Given the description of an element on the screen output the (x, y) to click on. 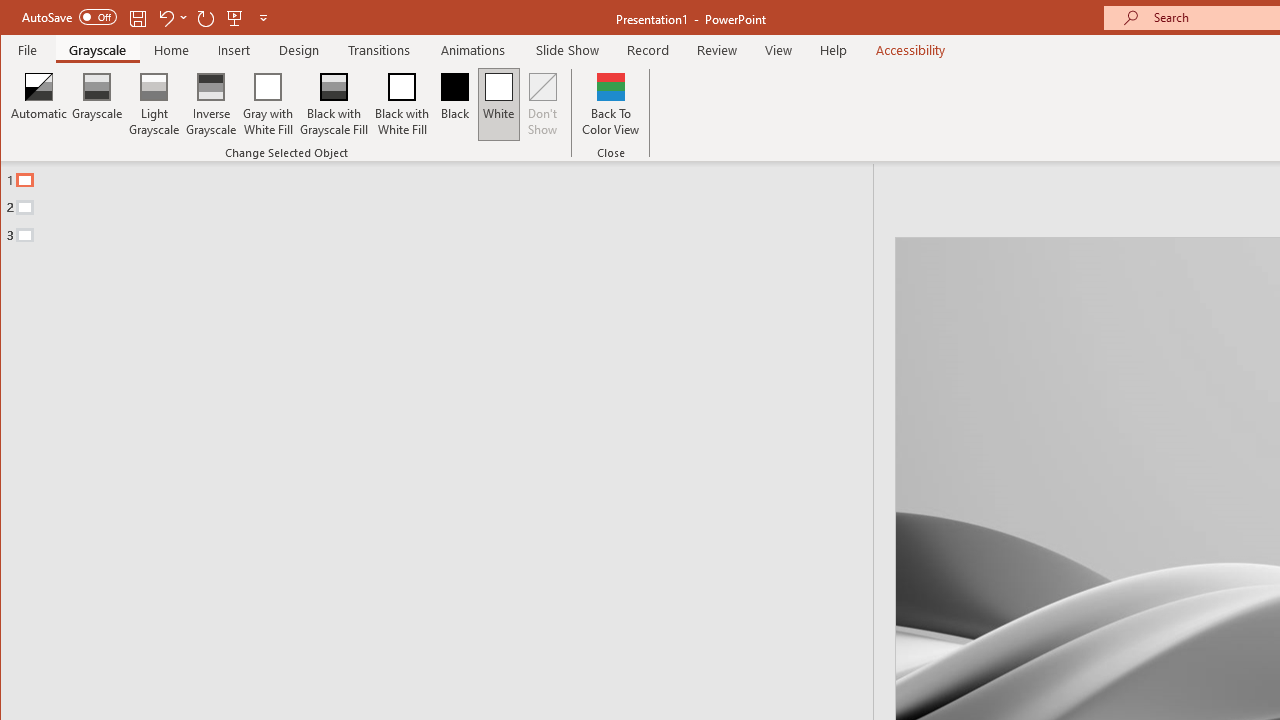
Don't Show (543, 104)
White (498, 104)
Inverse Grayscale (211, 104)
Light Grayscale (153, 104)
Black (454, 104)
